Given the description of an element on the screen output the (x, y) to click on. 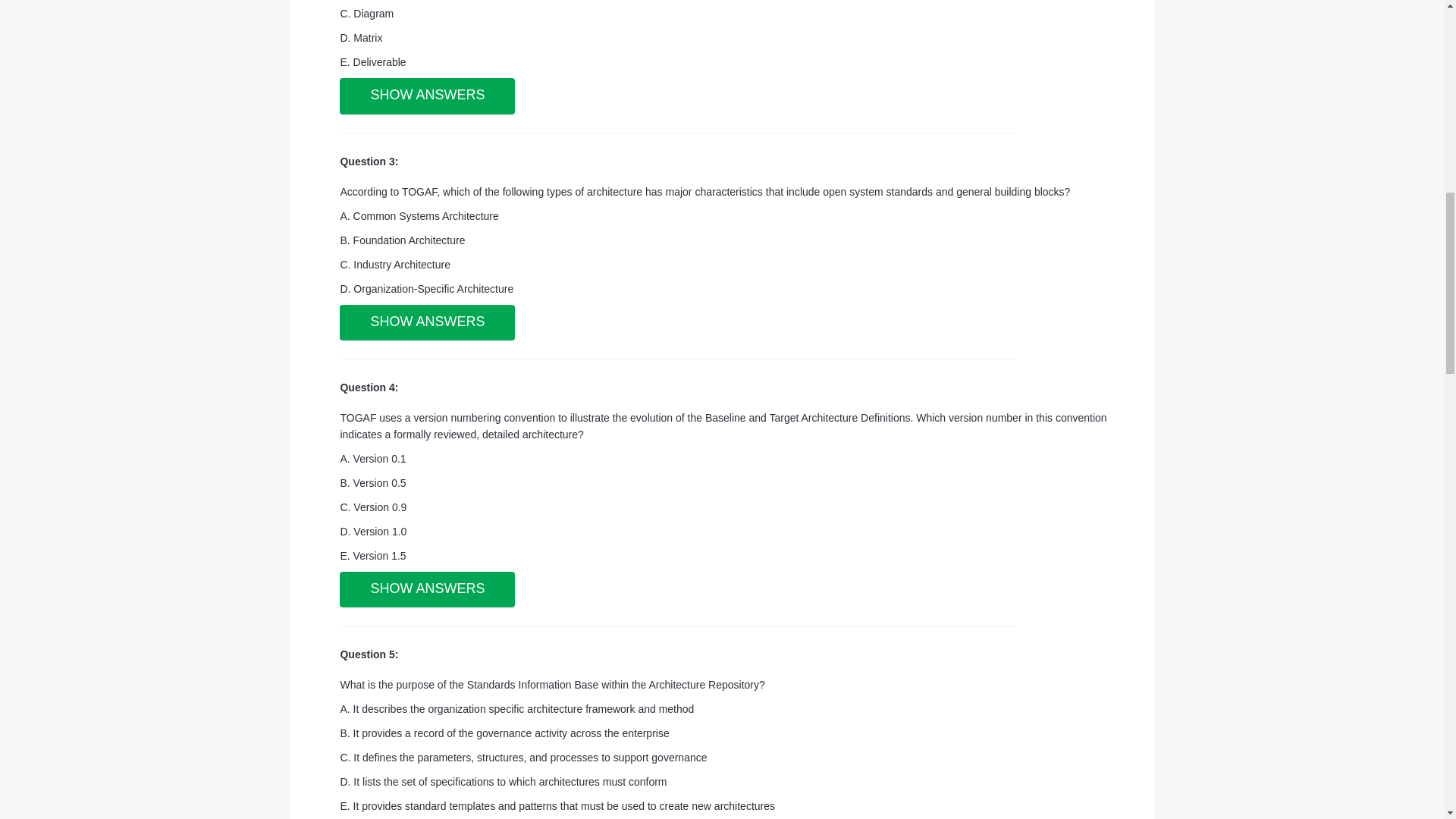
SHOW ANSWERS (427, 95)
SHOW ANSWERS (427, 589)
SHOW ANSWERS (427, 322)
